Given the description of an element on the screen output the (x, y) to click on. 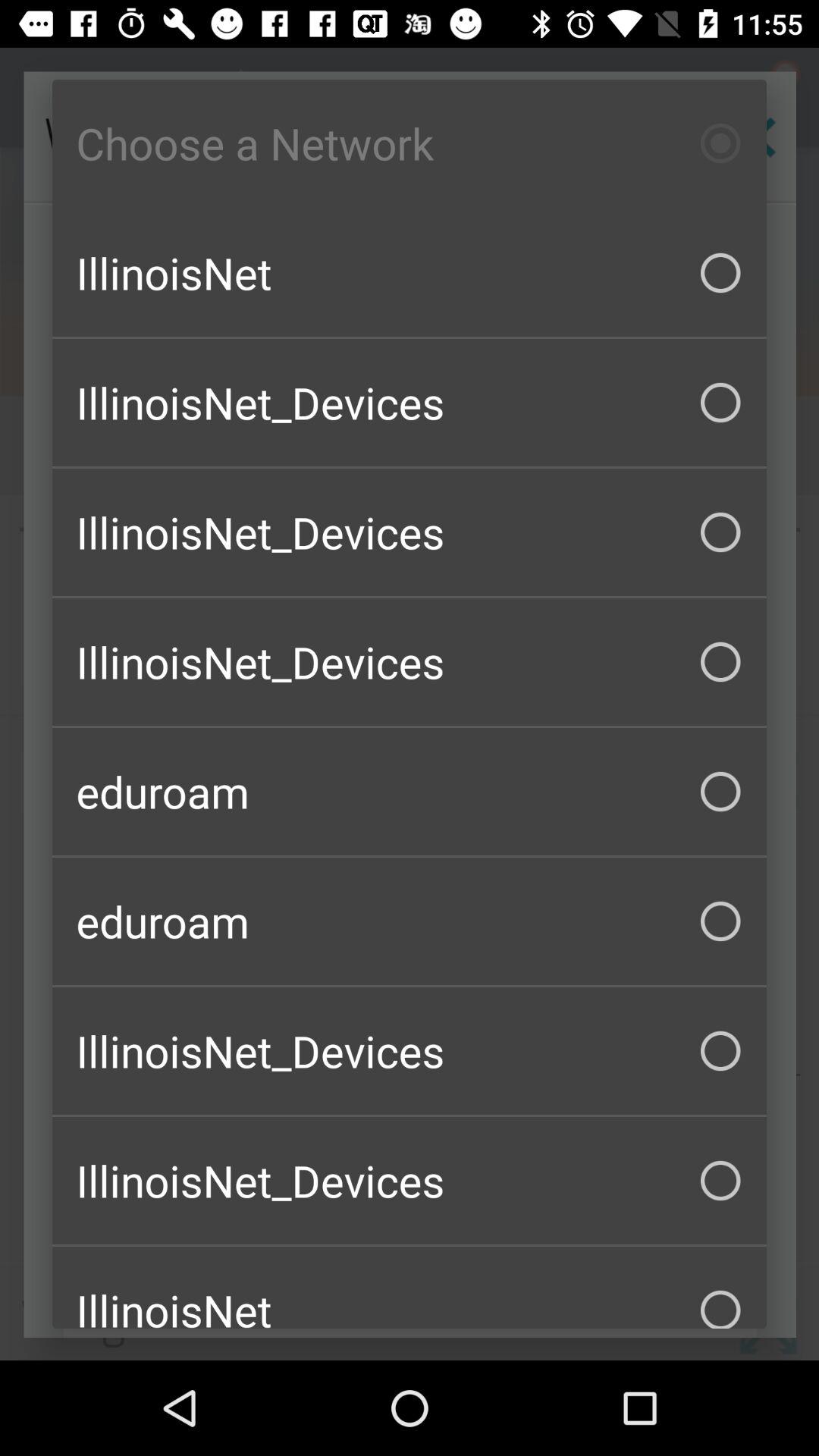
launch choose a network (409, 143)
